Given the description of an element on the screen output the (x, y) to click on. 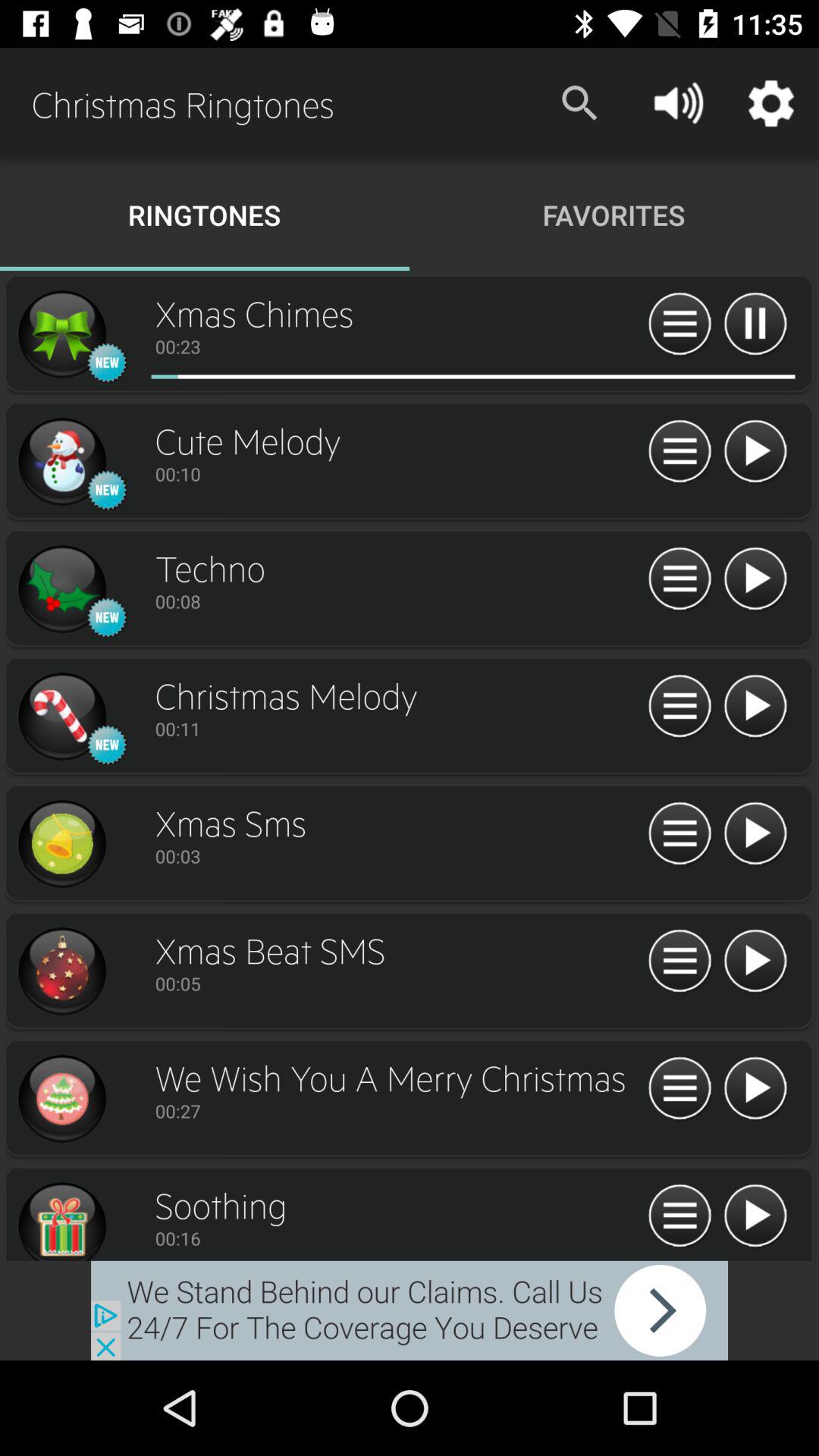
list options (679, 451)
